Given the description of an element on the screen output the (x, y) to click on. 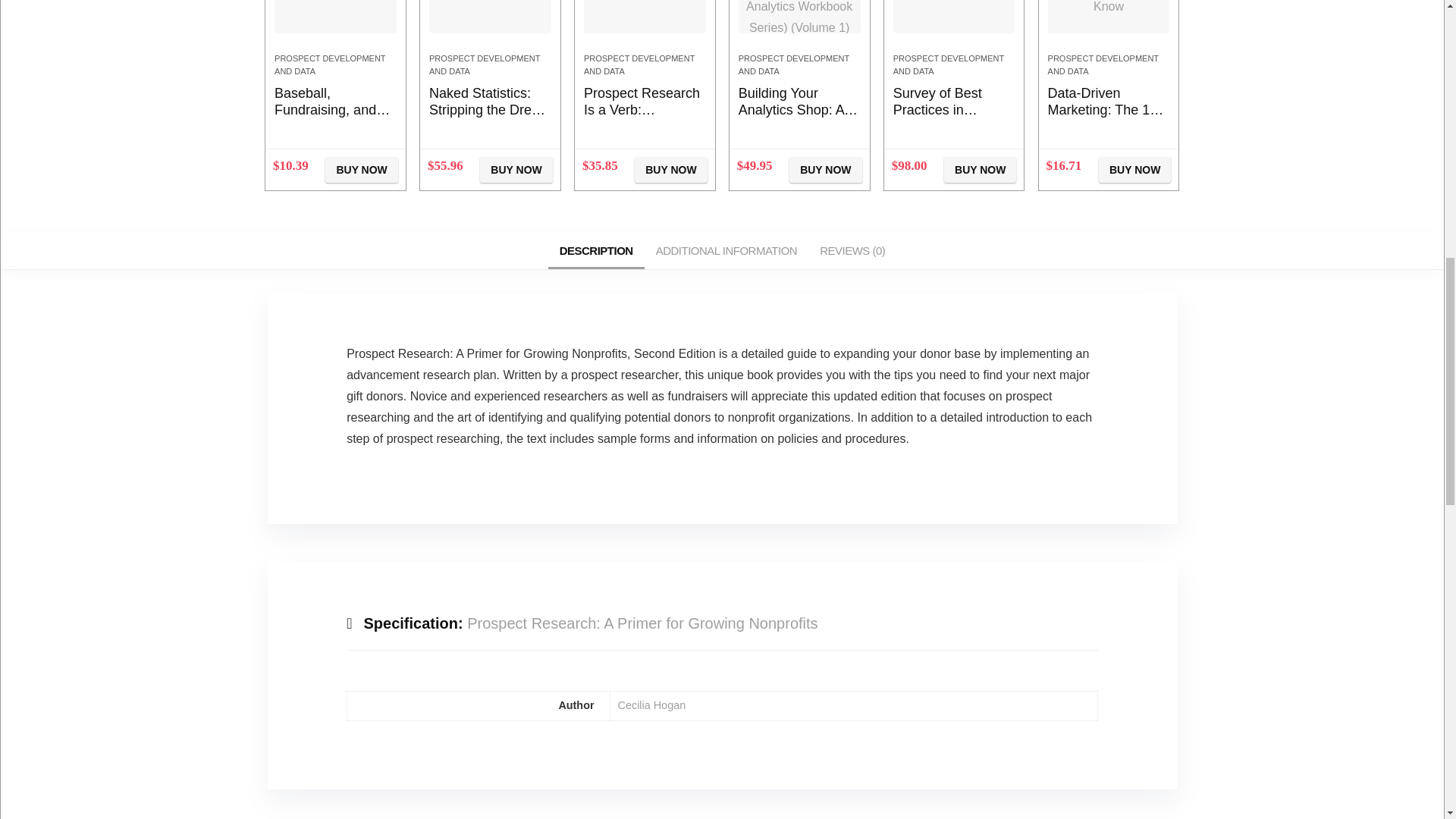
PROSPECT DEVELOPMENT AND DATA (638, 65)
BUY NOW (670, 169)
Naked Statistics: Stripping the Dread from the Data (488, 109)
BUY NOW (515, 169)
PROSPECT DEVELOPMENT AND DATA (330, 65)
PROSPECT DEVELOPMENT AND DATA (484, 65)
BUY NOW (360, 169)
